Given the description of an element on the screen output the (x, y) to click on. 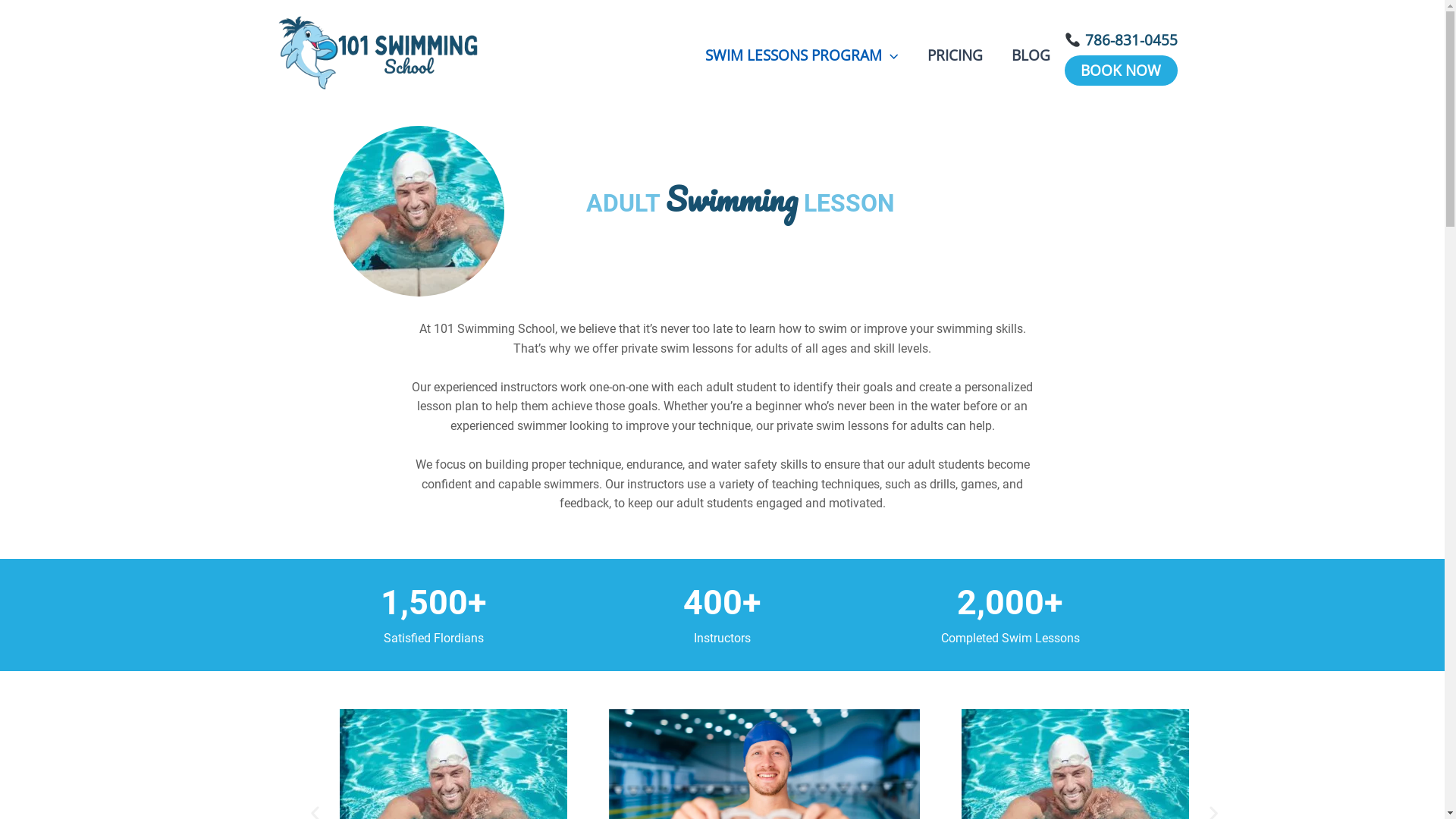
SWIM LESSONS PROGRAM Element type: text (801, 55)
786-831-0455 Element type: text (1120, 40)
PRICING Element type: text (955, 55)
BOOK NOW Element type: text (1120, 70)
Swimming Element type: text (731, 198)
BLOG Element type: text (1030, 55)
